Given the description of an element on the screen output the (x, y) to click on. 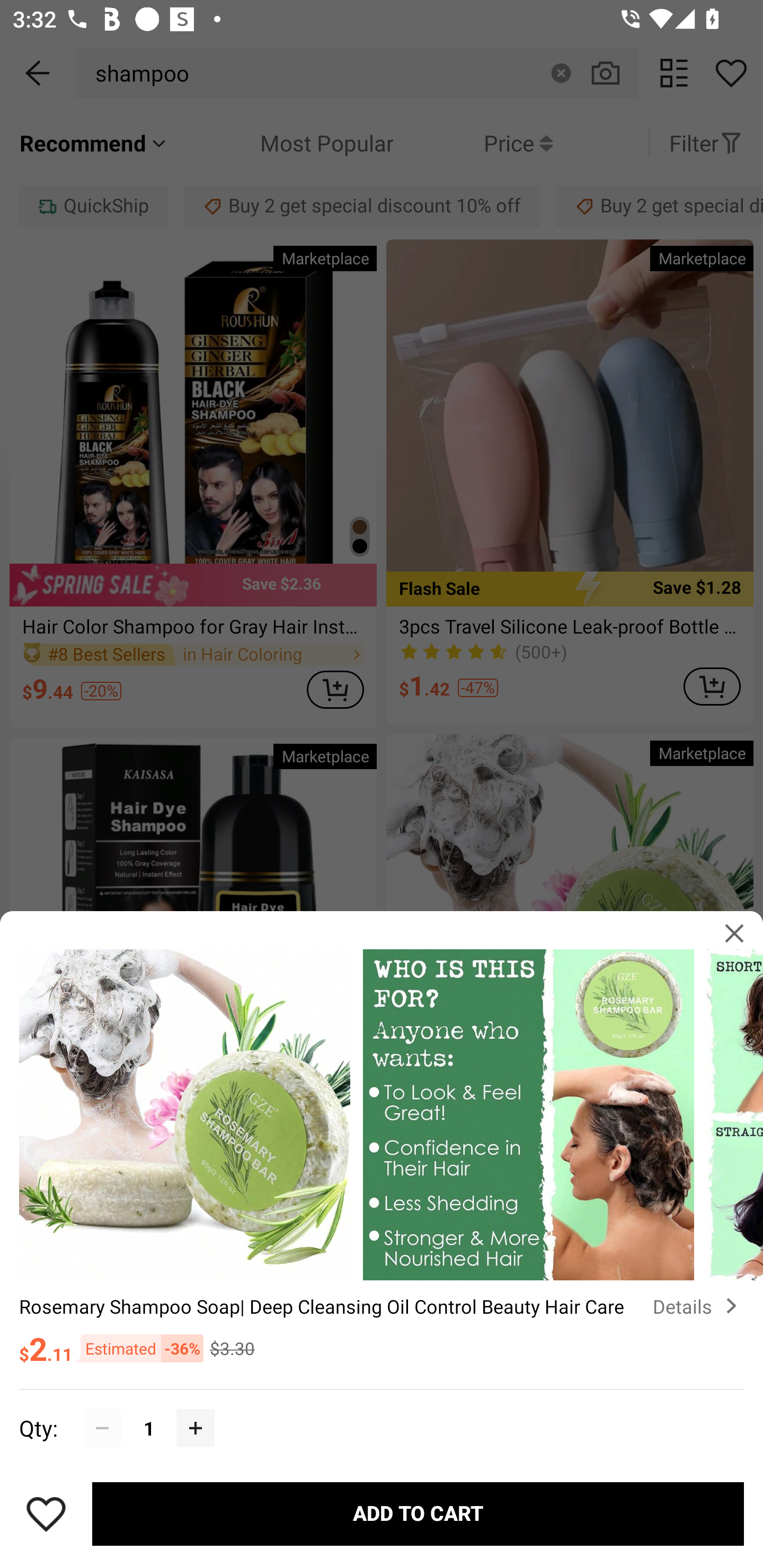
Details (698, 1305)
Estimated -36% (137, 1348)
ADD TO CART (417, 1513)
Save (46, 1513)
